Given the description of an element on the screen output the (x, y) to click on. 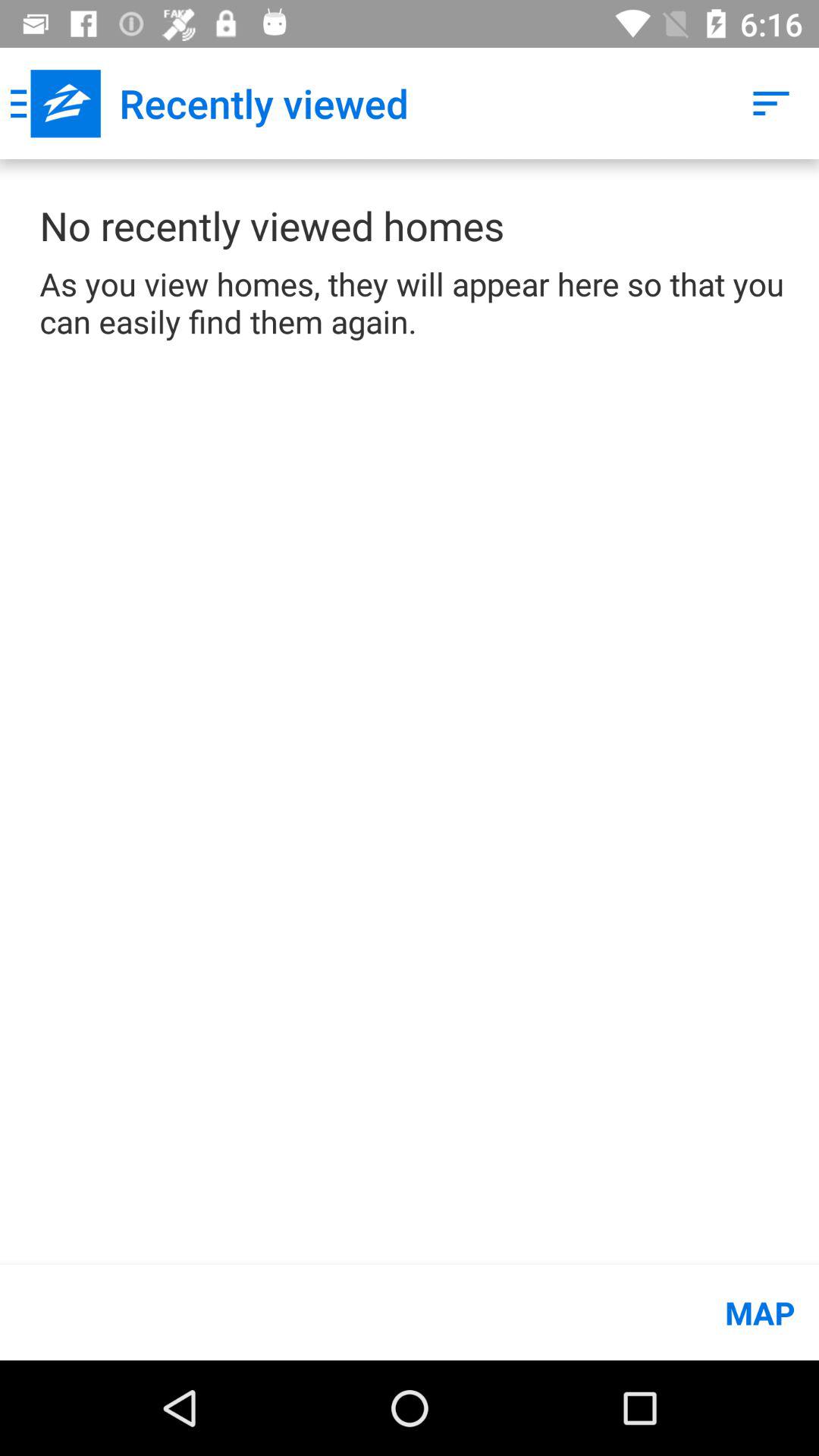
press the map icon (409, 1312)
